Given the description of an element on the screen output the (x, y) to click on. 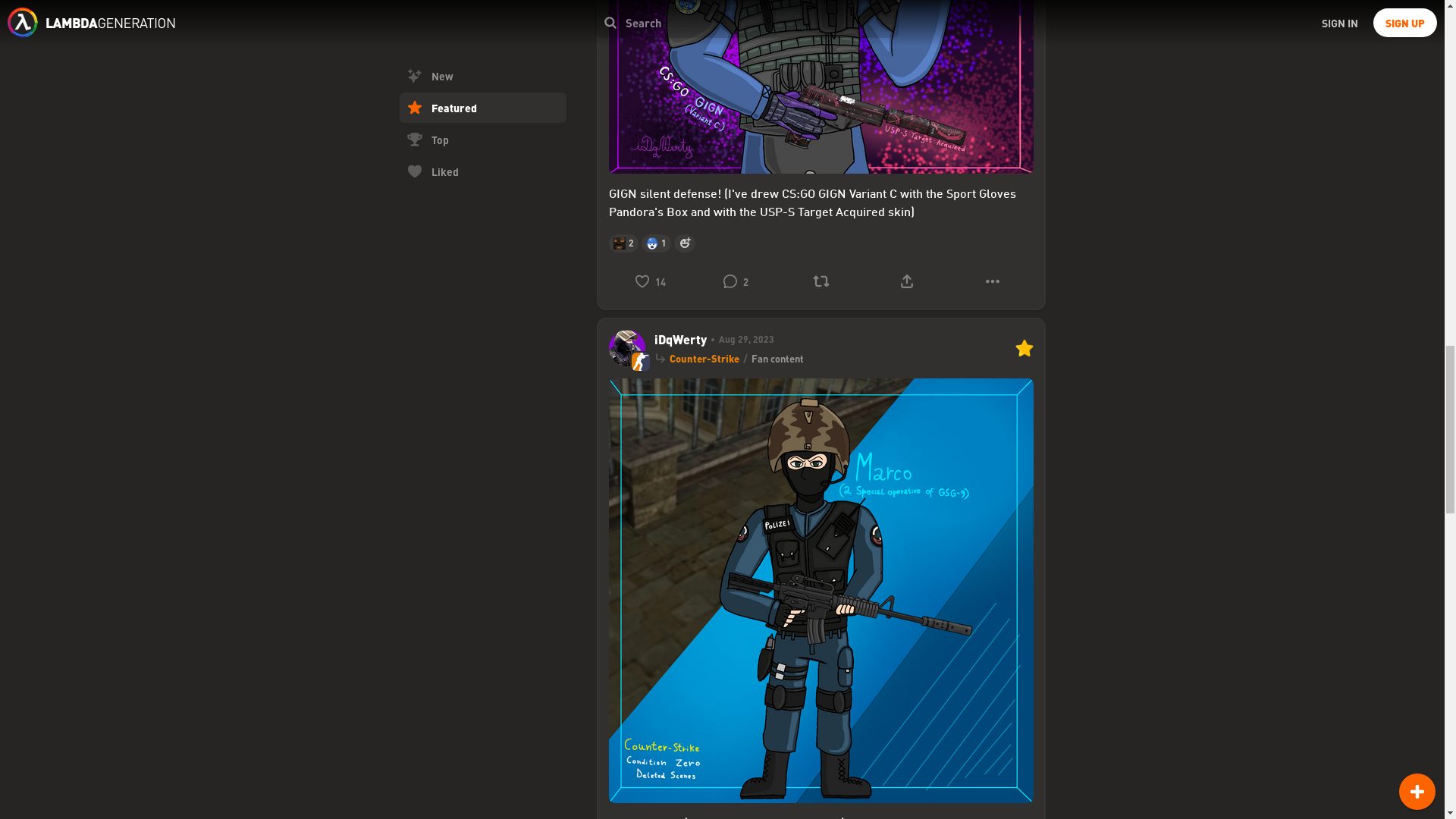
iDqWerty (679, 339)
Counter-Strike (703, 358)
Fan content (777, 358)
2 (735, 281)
Aug 29, 2023 (740, 339)
